Given the description of an element on the screen output the (x, y) to click on. 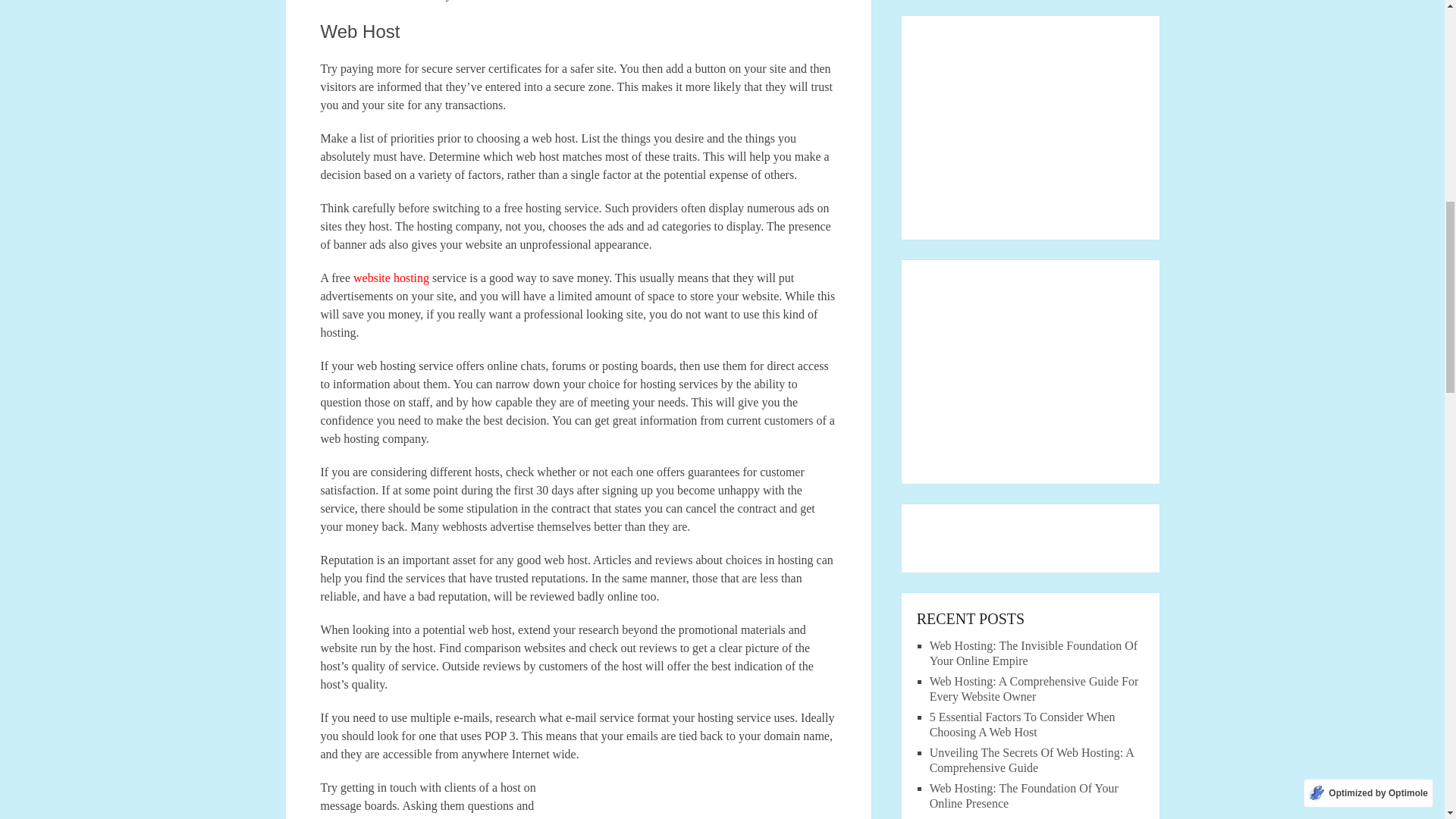
Need Website Hosting Advice? Try These Ideas Today! (705, 802)
website hosting (391, 277)
Web Hosting: The Invisible Foundation Of Your Online Empire (1033, 653)
